Given the description of an element on the screen output the (x, y) to click on. 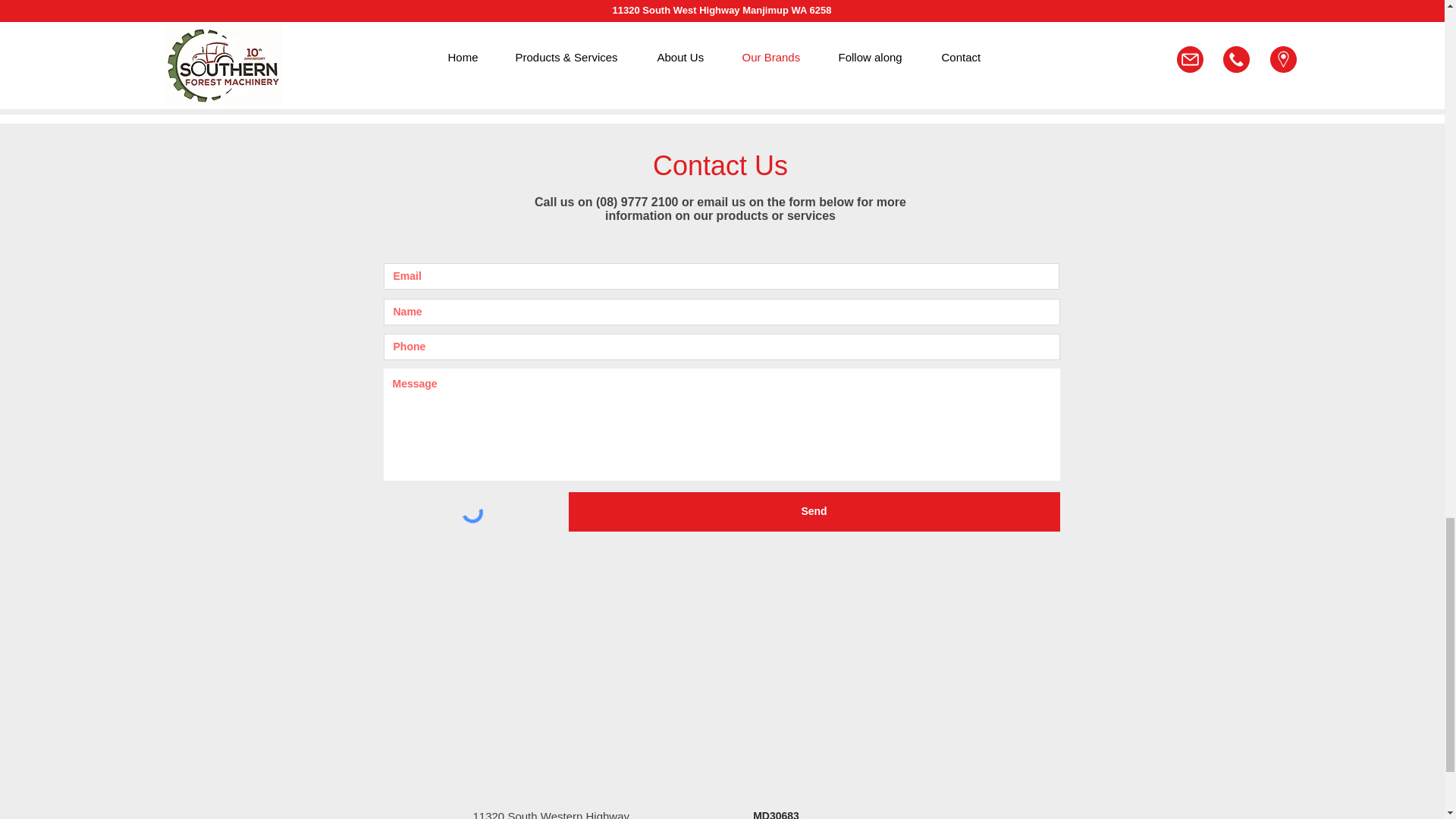
Send (896, 40)
Send (814, 511)
MD30683 (775, 814)
